Given the description of an element on the screen output the (x, y) to click on. 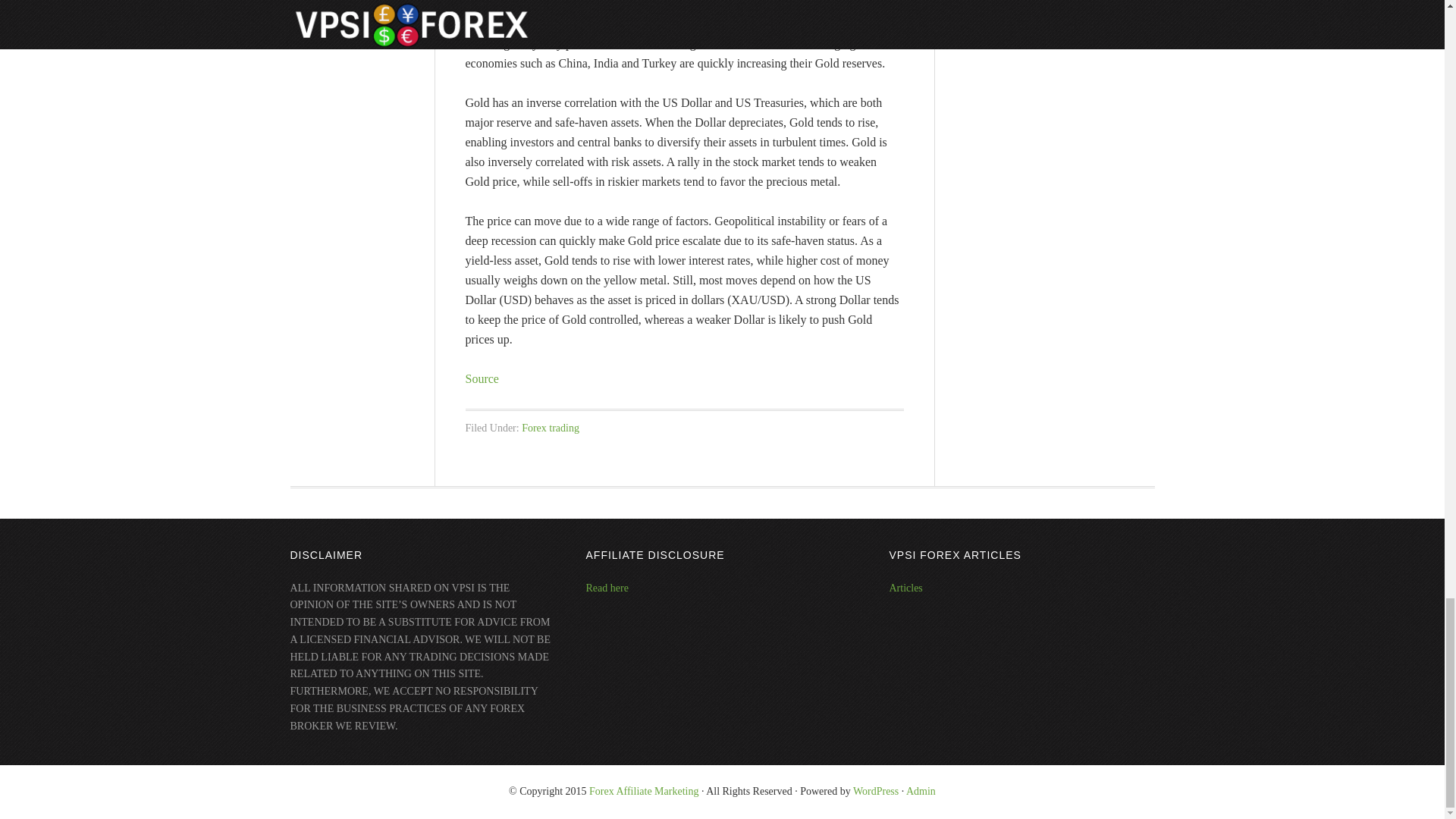
WordPress (875, 790)
Source (482, 378)
Forex trading (550, 428)
Admin (920, 790)
Read here (606, 587)
Forex Affiliate Marketing (643, 790)
Articles (904, 587)
